Given the description of an element on the screen output the (x, y) to click on. 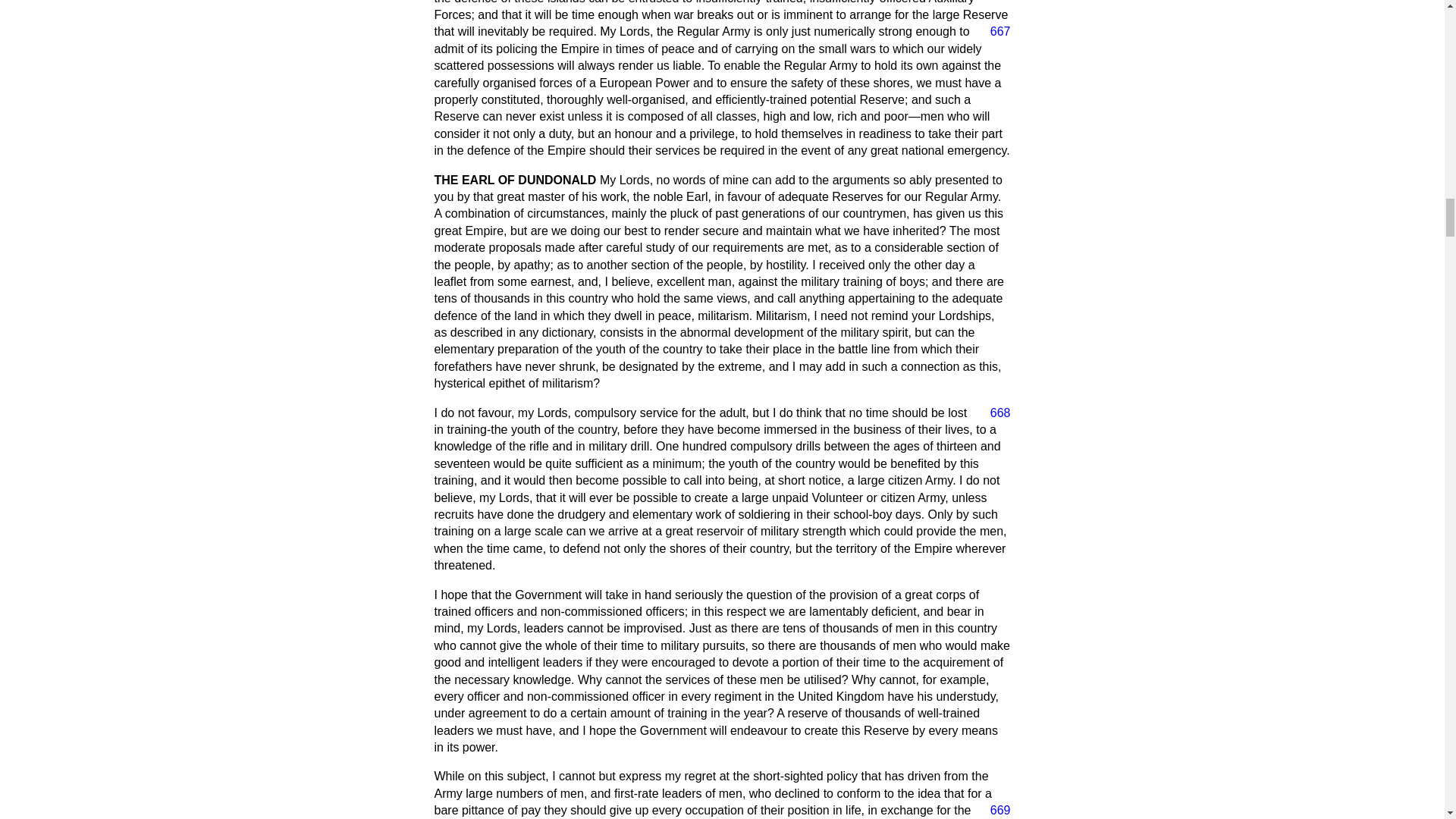
669 (994, 810)
667 (994, 31)
668 (994, 412)
